Given the description of an element on the screen output the (x, y) to click on. 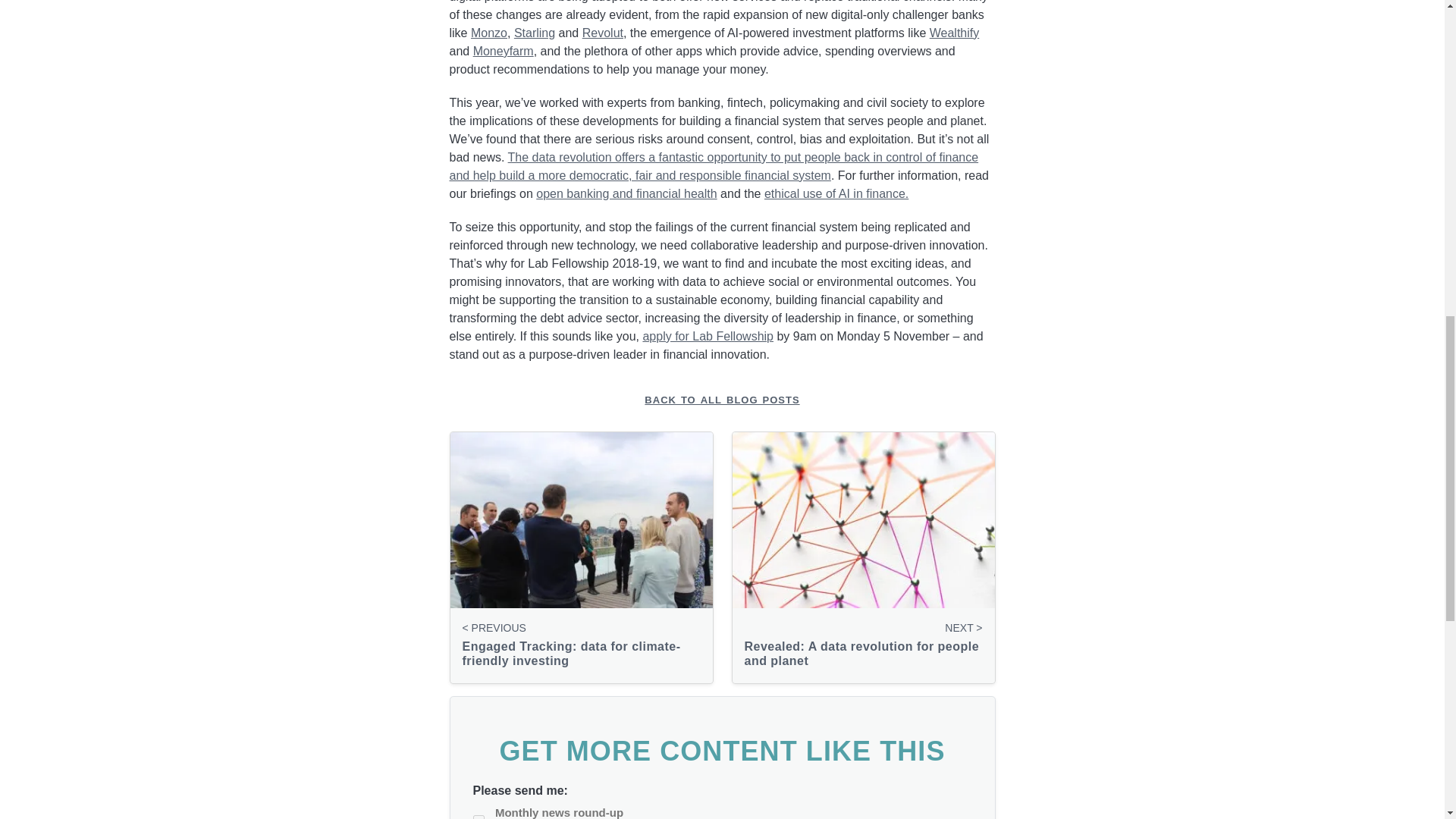
Revolut (602, 32)
ceo-roundup (478, 816)
Wealthify (954, 32)
ethical use of AI in finance. (836, 193)
Monzo (488, 32)
Starling (533, 32)
open banking and financial health (625, 193)
Moneyfarm (503, 51)
